Given the description of an element on the screen output the (x, y) to click on. 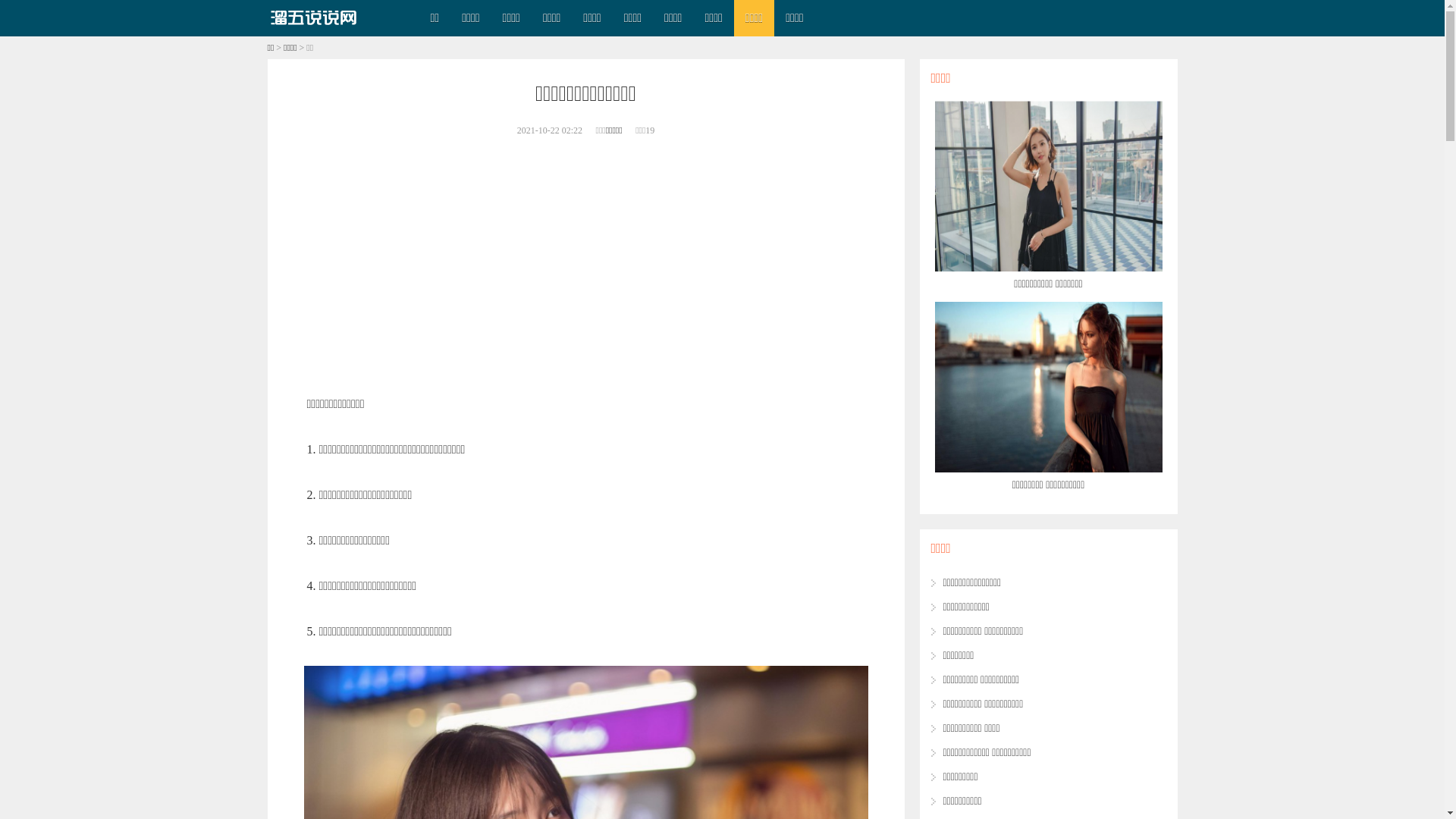
Advertisement Element type: hover (585, 263)
